Given the description of an element on the screen output the (x, y) to click on. 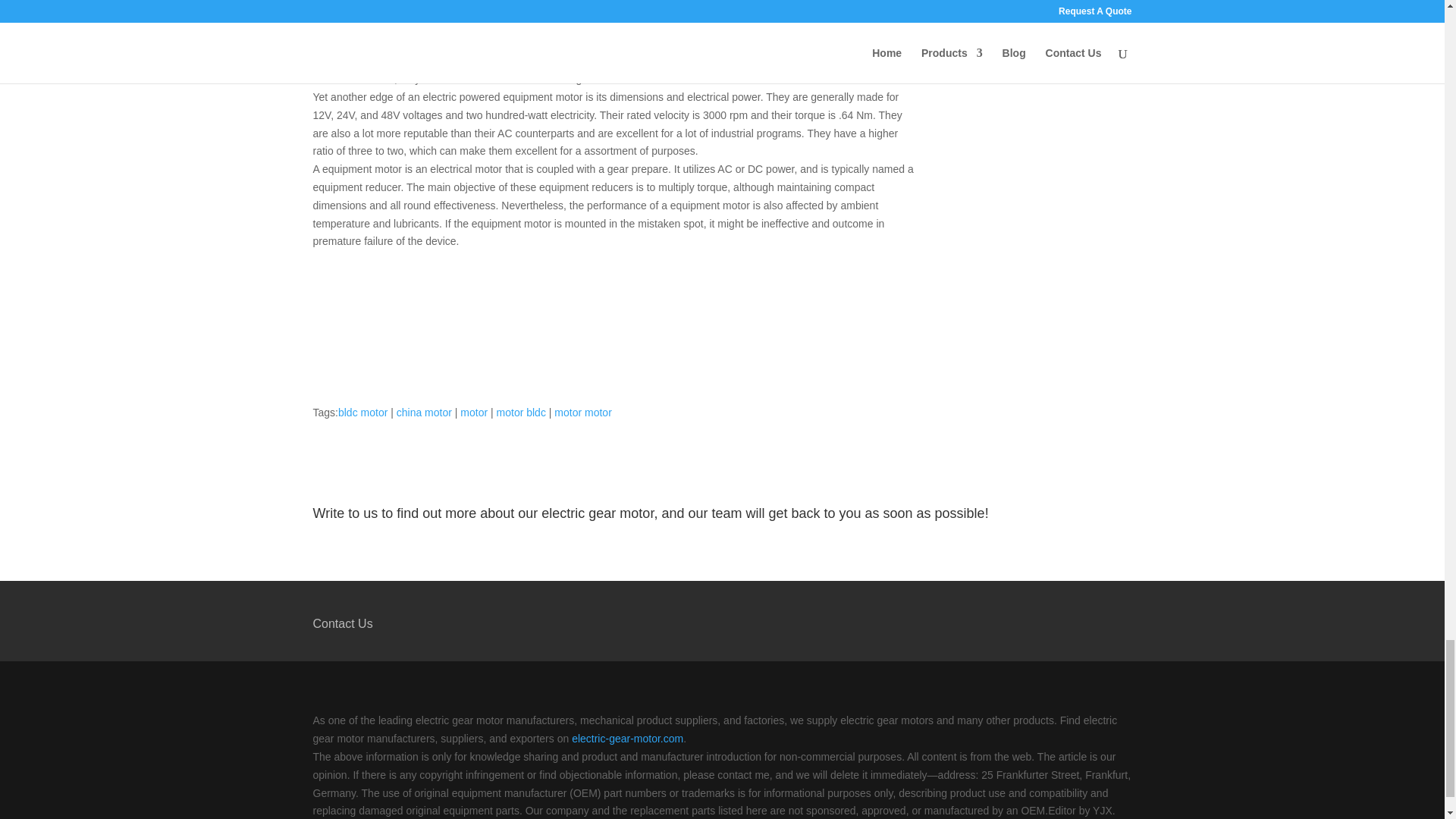
motor bldc (521, 412)
bldc motor (362, 412)
motor (473, 412)
china motor (423, 412)
motor motor (582, 412)
